Given the description of an element on the screen output the (x, y) to click on. 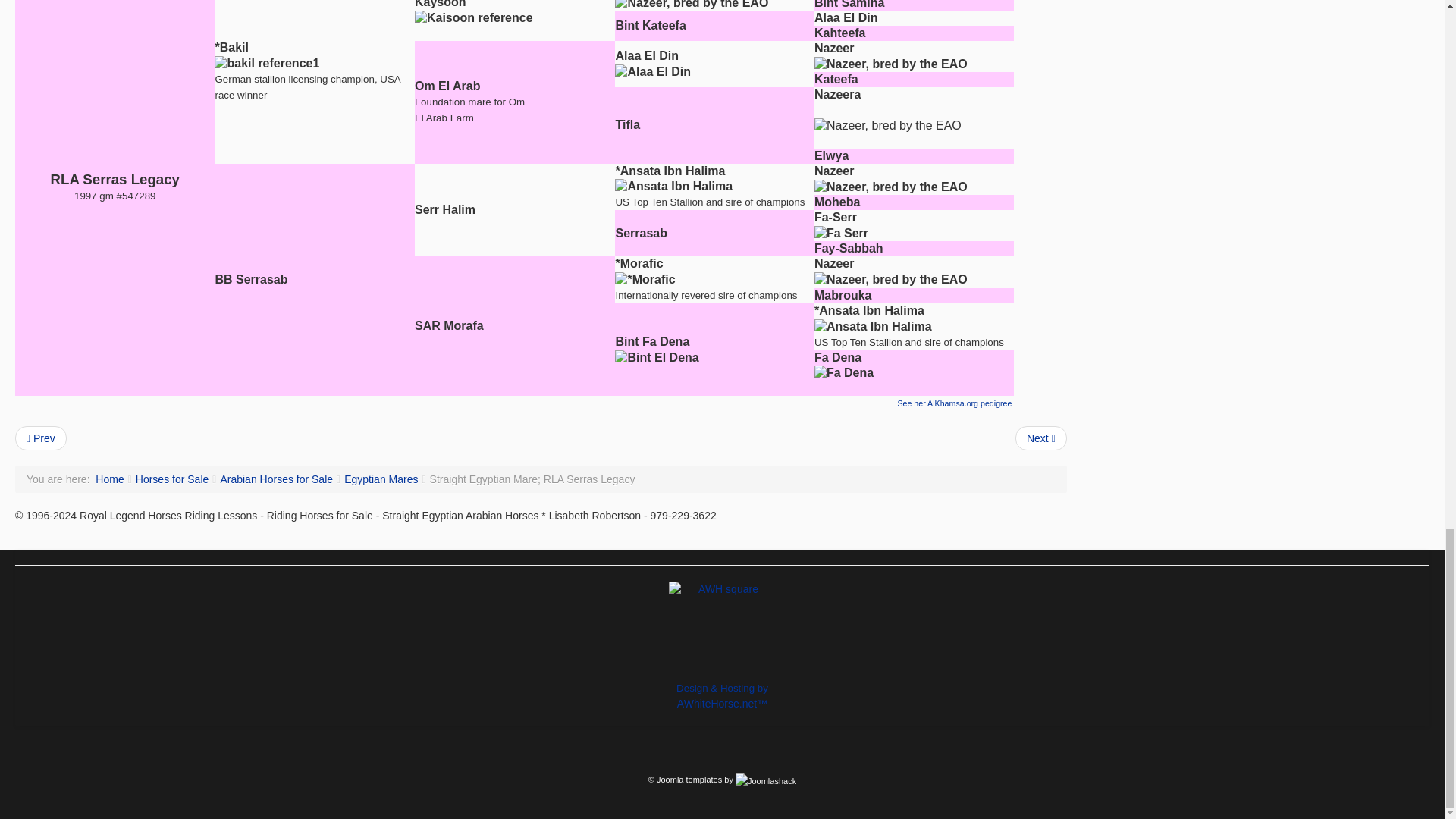
Next (1040, 437)
Straight Egyptian Mare; RLA Angel AlAmal (40, 437)
Prev (40, 437)
See her AlKhamsa.org pedigree  (954, 402)
Horses for Sale (171, 479)
Home (109, 479)
Straight Egyptian Mare; RLA Lahbat Azaleh (1040, 437)
